Given the description of an element on the screen output the (x, y) to click on. 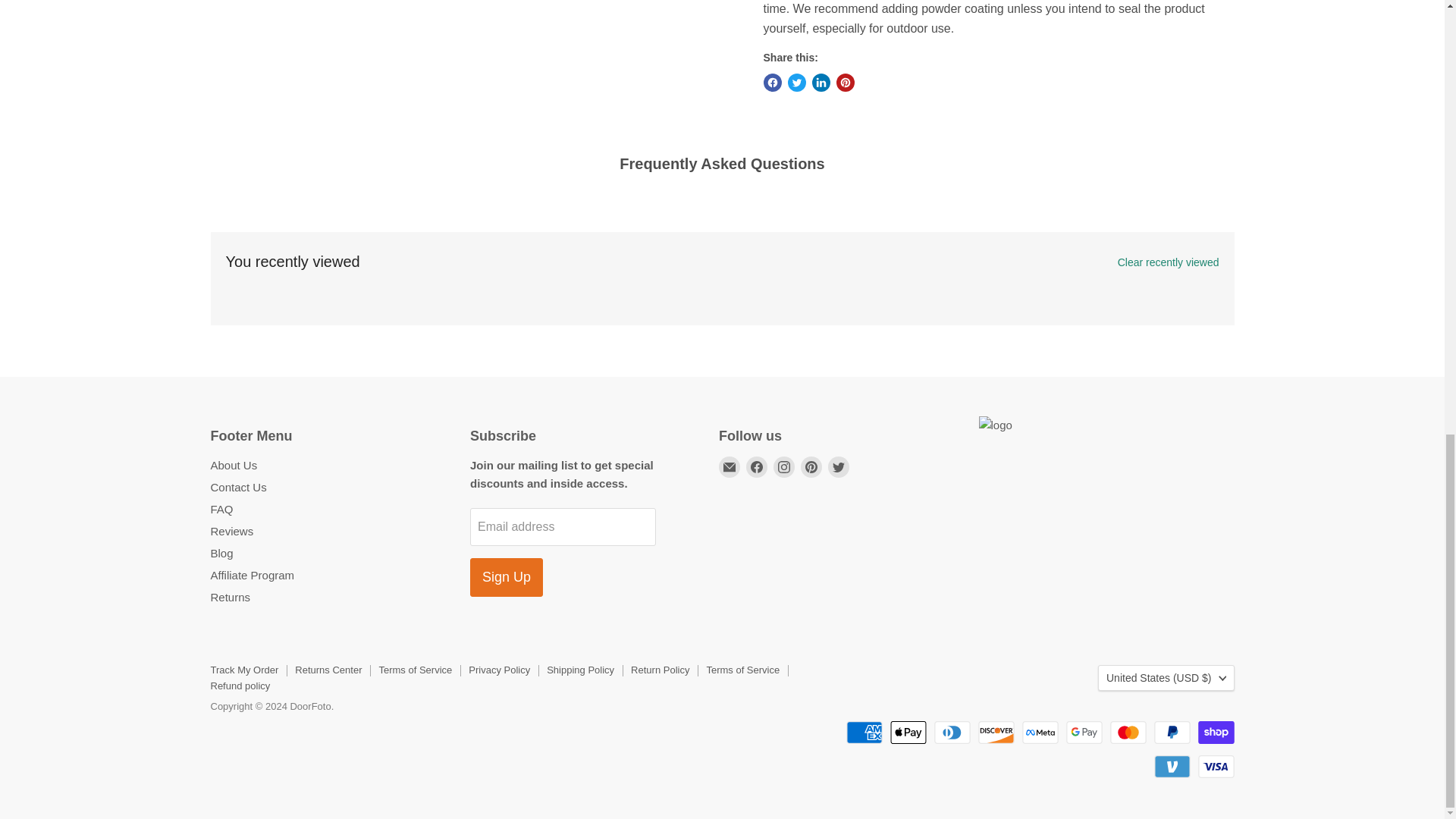
Pinterest (811, 466)
E-mail (729, 466)
Twitter (838, 466)
Instagram (783, 466)
Facebook (756, 466)
